Given the description of an element on the screen output the (x, y) to click on. 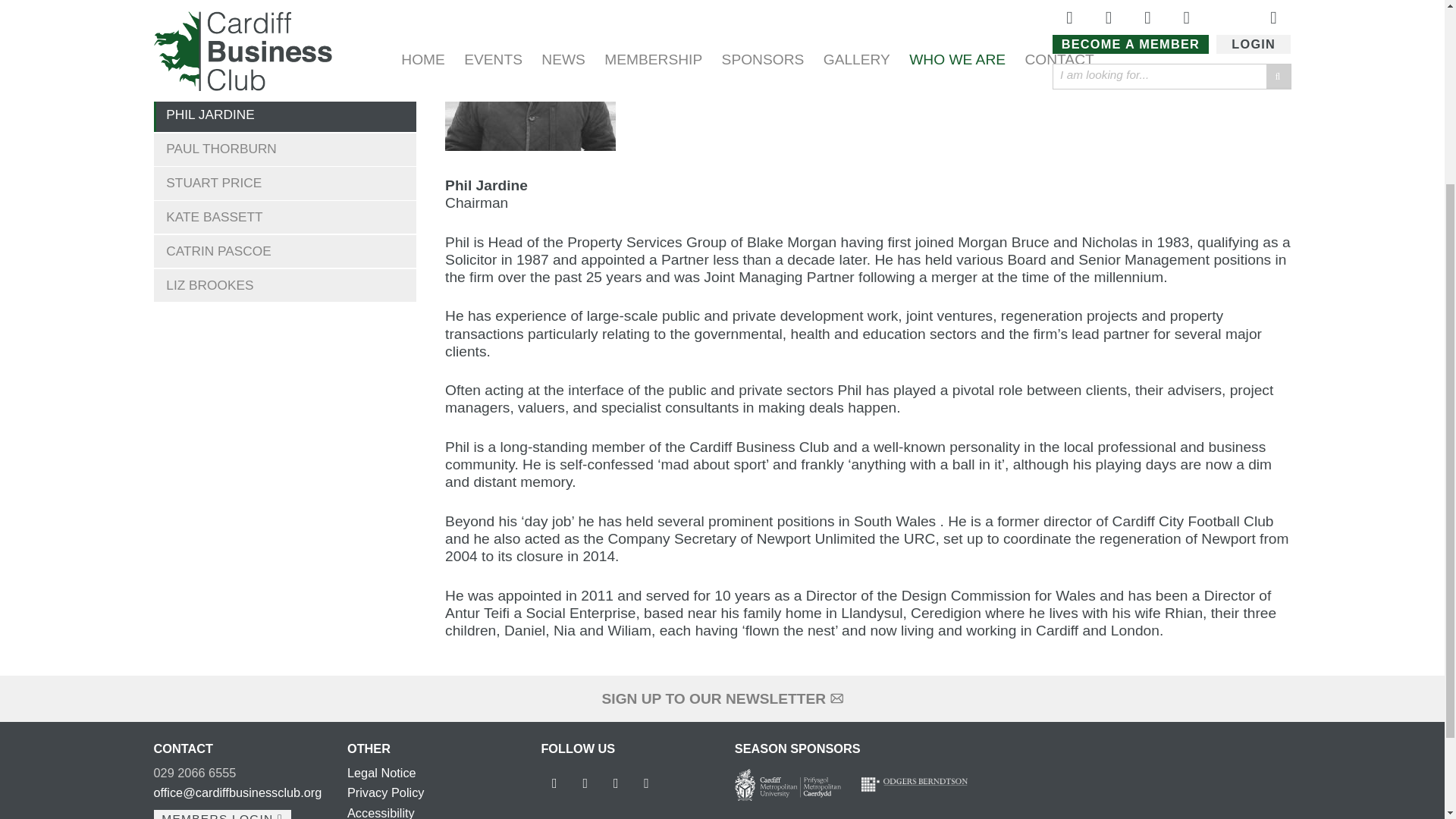
Phil Jardine (283, 115)
LIZ BROOKES (283, 285)
CATRIN PASCOE (283, 251)
Jamie Hayes (283, 34)
BARONESS TANNI GREY-THOMPSON DBE DL (283, 75)
PHIL JARDINE (283, 115)
STUART PRICE (283, 183)
Legal Notice (381, 772)
JAMIE HAYES (283, 34)
Cat Griffith-Williams (283, 8)
PAUL THORBURN (283, 149)
KATE BASSETT (283, 216)
SIGN UP TO OUR NEWSLETTER (722, 698)
Privacy Policy (386, 792)
CAT GRIFFITH-WILLIAMS (283, 8)
